Given the description of an element on the screen output the (x, y) to click on. 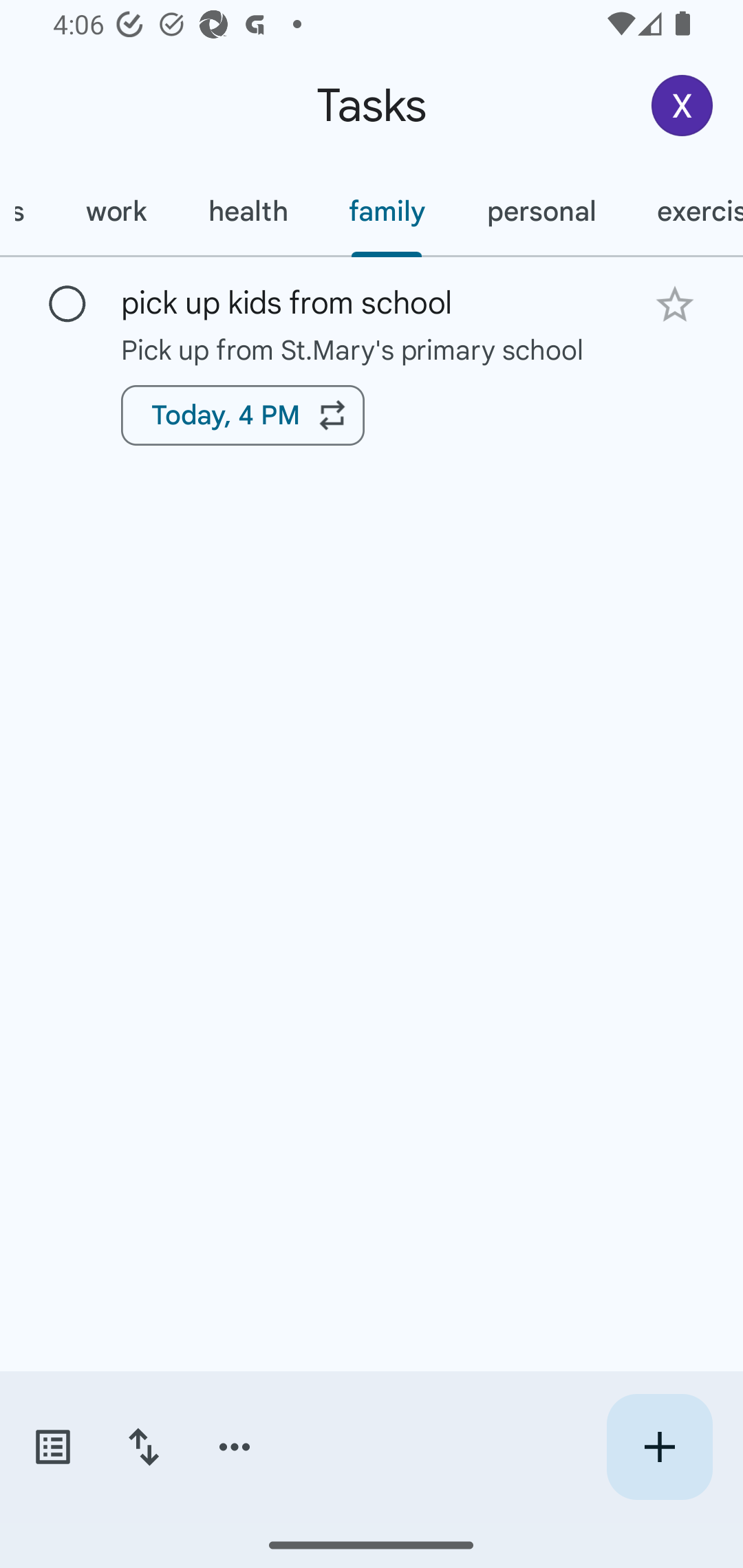
work (115, 211)
health (247, 211)
personal (541, 211)
exercise (684, 211)
Add star (674, 303)
Mark as complete (67, 304)
Pick up from St.Mary's primary school (371, 349)
Today, 4 PM (242, 415)
Switch task lists (52, 1447)
Create new task (659, 1446)
Change sort order (143, 1446)
More options (234, 1446)
